Given the description of an element on the screen output the (x, y) to click on. 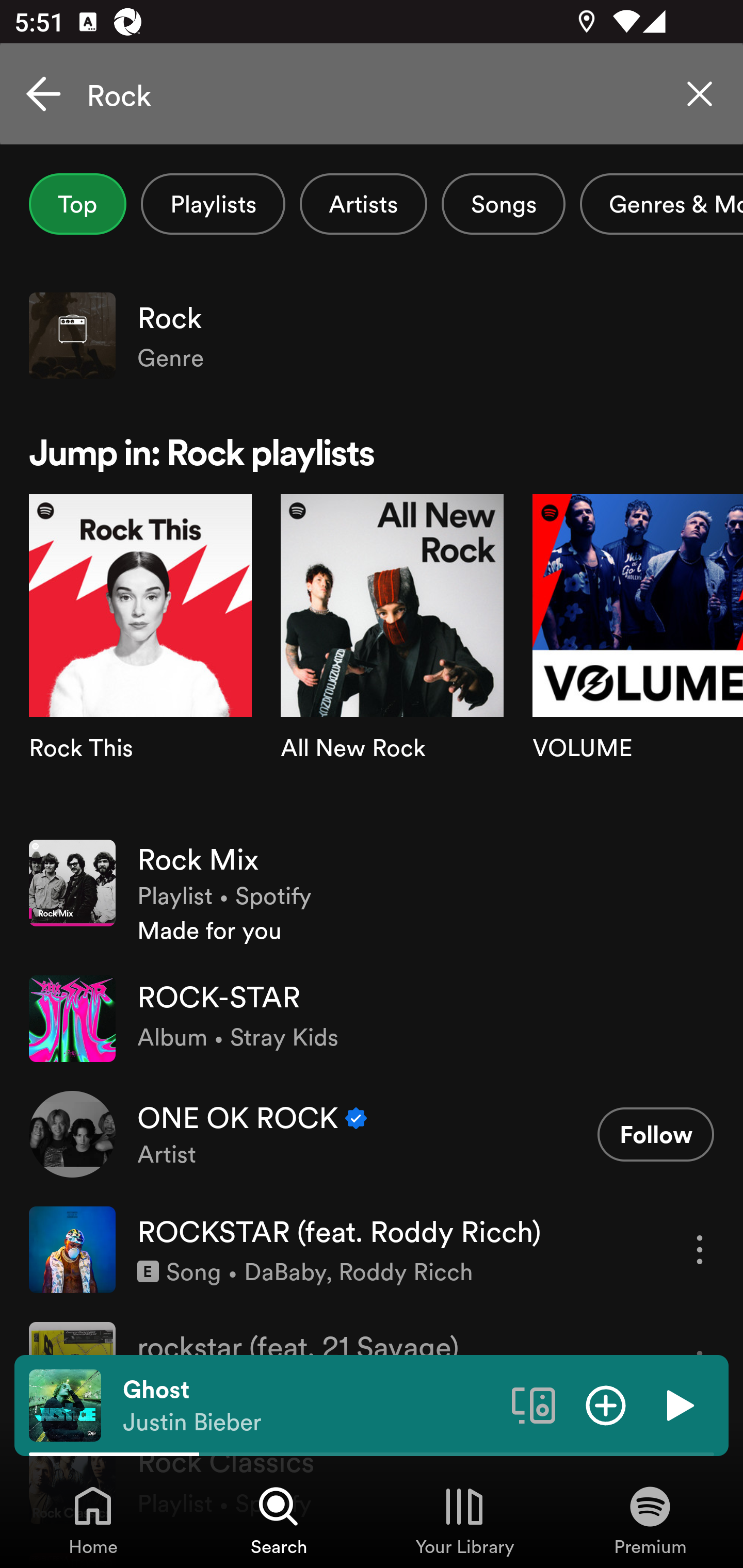
Rock (371, 93)
Cancel (43, 93)
Clear search query (699, 93)
Top (77, 203)
Playlists (213, 203)
Artists (363, 203)
Songs (503, 203)
Genres & Moods (661, 203)
Rock Genre (371, 335)
Search card image Rock This (139, 658)
Search card image All New Rock (391, 658)
Search card image VOLUME (637, 658)
Rock Mix Playlist • Spotify Made for you (371, 892)
ROCK-STAR Album • Stray Kids (371, 1019)
ONE OK ROCK Verified Artist Follow Follow (371, 1134)
Follow (655, 1134)
More options for song ROCKSTAR (feat. Roddy Ricch) (699, 1249)
Ghost Justin Bieber (309, 1405)
The cover art of the currently playing track (64, 1404)
Connect to a device. Opens the devices menu (533, 1404)
Add item (605, 1404)
Play (677, 1404)
Home, Tab 1 of 4 Home Home (92, 1519)
Search, Tab 2 of 4 Search Search (278, 1519)
Your Library, Tab 3 of 4 Your Library Your Library (464, 1519)
Premium, Tab 4 of 4 Premium Premium (650, 1519)
